Given the description of an element on the screen output the (x, y) to click on. 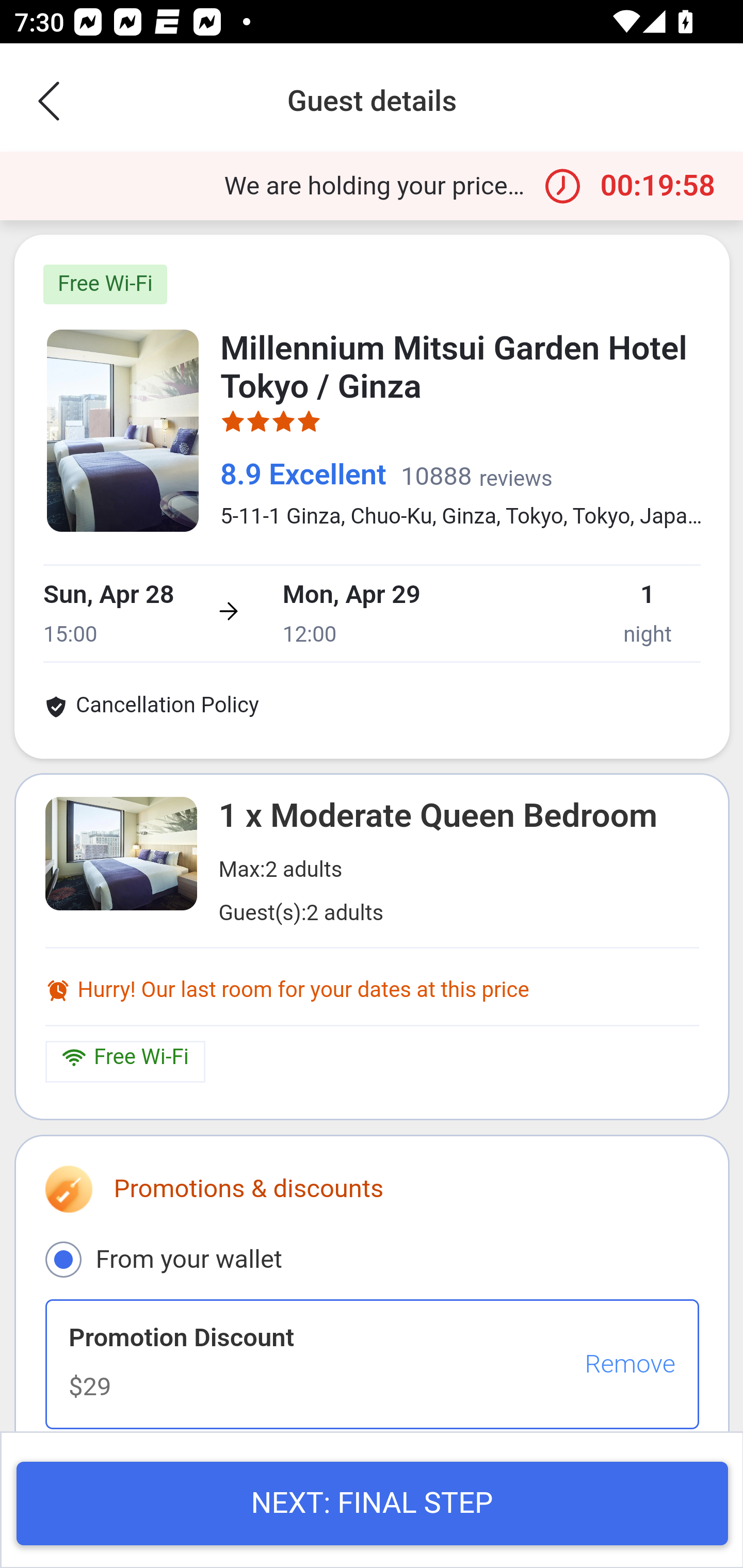
Free Wi-Fi (105, 283)
Hotel (122, 430)
4 stars out of 5 (271, 425)
Cancellation Policy (151, 709)
From your wallet (371, 1258)
From your wallet (63, 1258)
Remove (629, 1364)
NEXT: FINAL STEP (371, 1504)
